Given the description of an element on the screen output the (x, y) to click on. 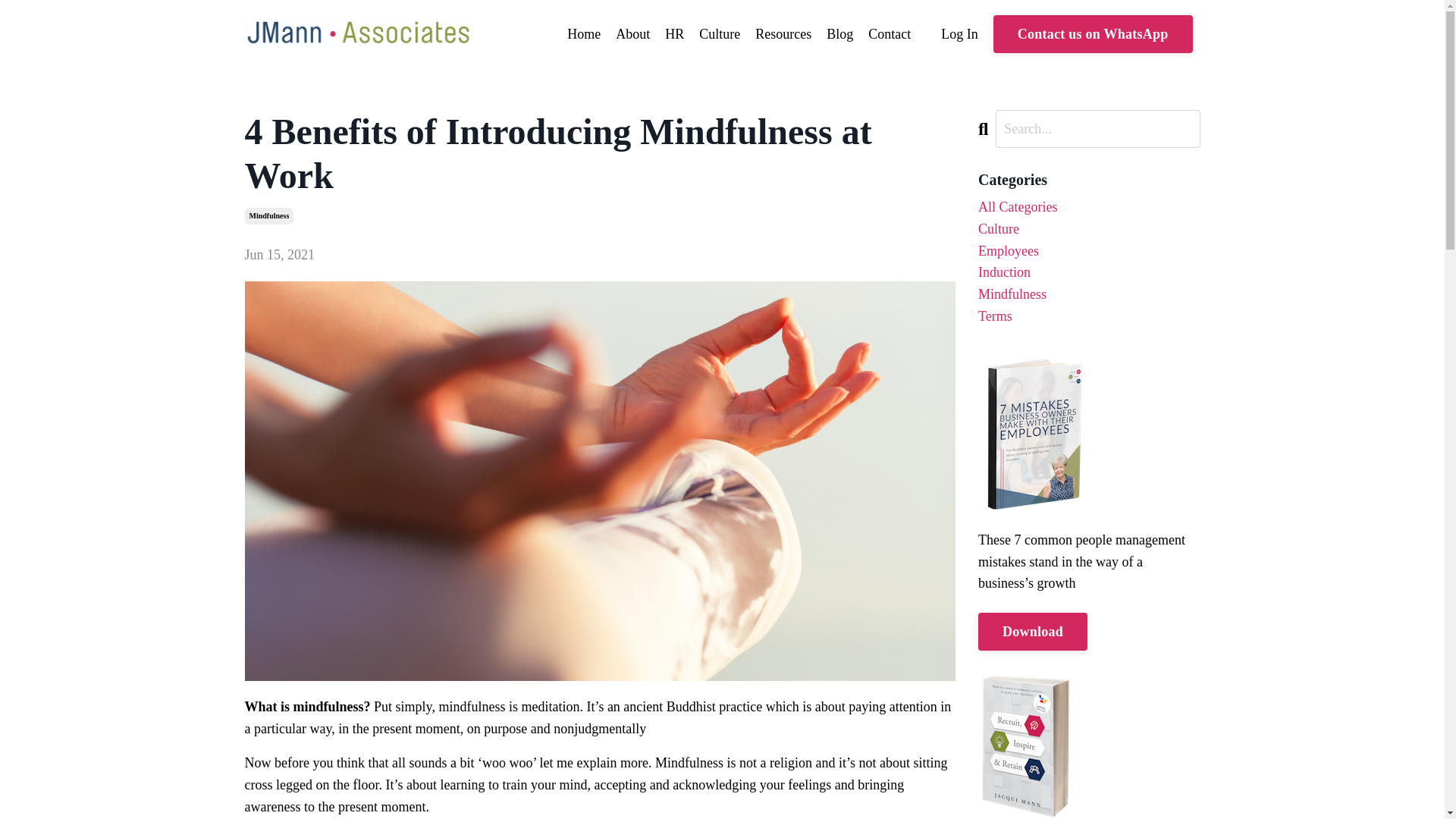
Culture (718, 34)
Terms (1088, 316)
Log In (959, 33)
Download (1032, 631)
Mindfulness (269, 216)
Mindfulness (1088, 294)
Contact (889, 34)
Culture (1088, 229)
Employees (1088, 251)
Blog (840, 34)
Contact us on WhatsApp (1092, 34)
All Categories (1088, 207)
Induction (1088, 272)
Home (583, 34)
About (632, 34)
